Given the description of an element on the screen output the (x, y) to click on. 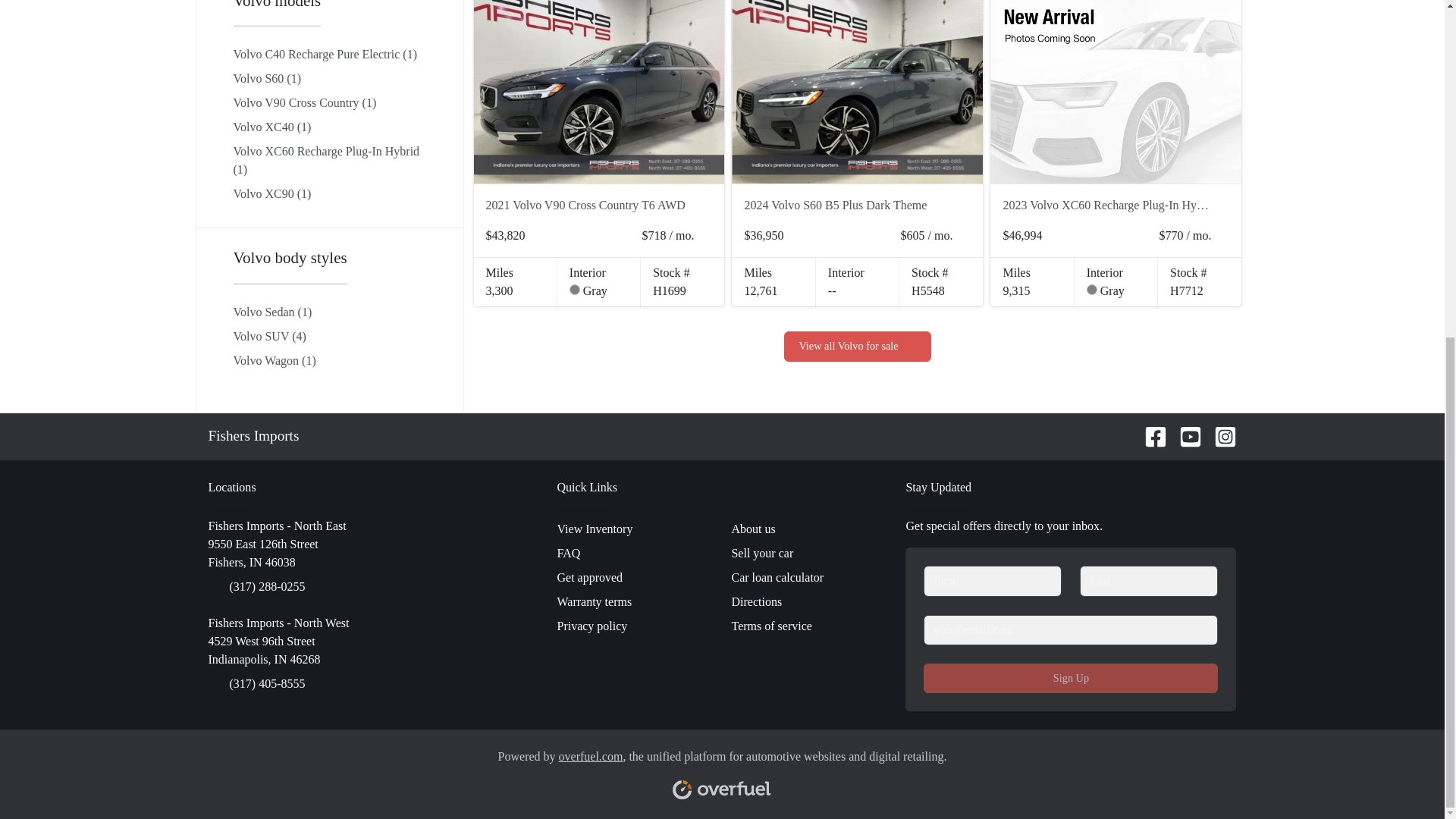
2021 Volvo V90 Cross Country T6 AWD (588, 205)
2024 Volvo S60 B5 Plus Dark Theme (848, 205)
Shop Volvo S60 (266, 78)
Shop Volvo C40 Recharge Pure Electric (324, 53)
